Given the description of an element on the screen output the (x, y) to click on. 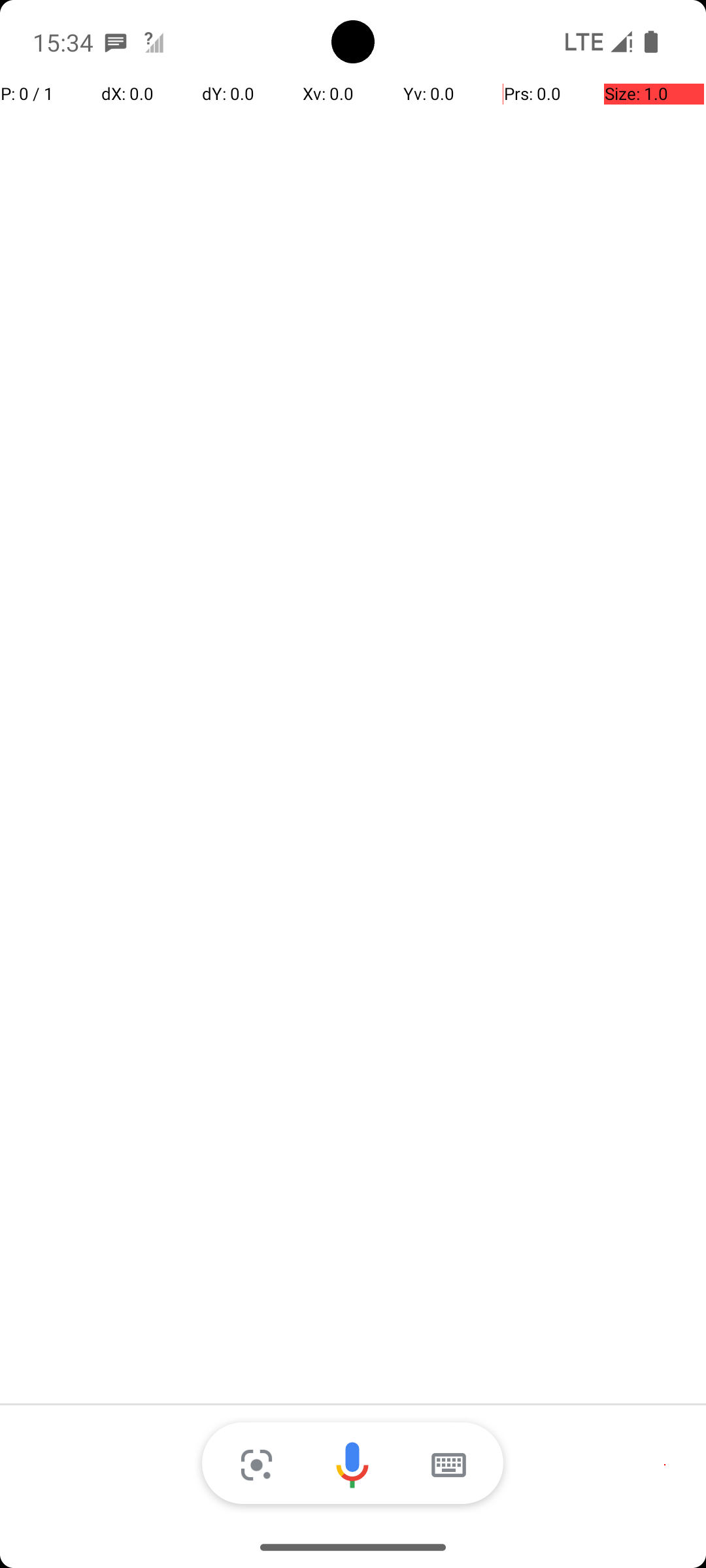
Assistant Element type: android.widget.RelativeLayout (353, 1464)
Lens icon Element type: android.widget.ImageView (256, 1465)
Type mode Element type: android.widget.ImageView (448, 1465)
